Given the description of an element on the screen output the (x, y) to click on. 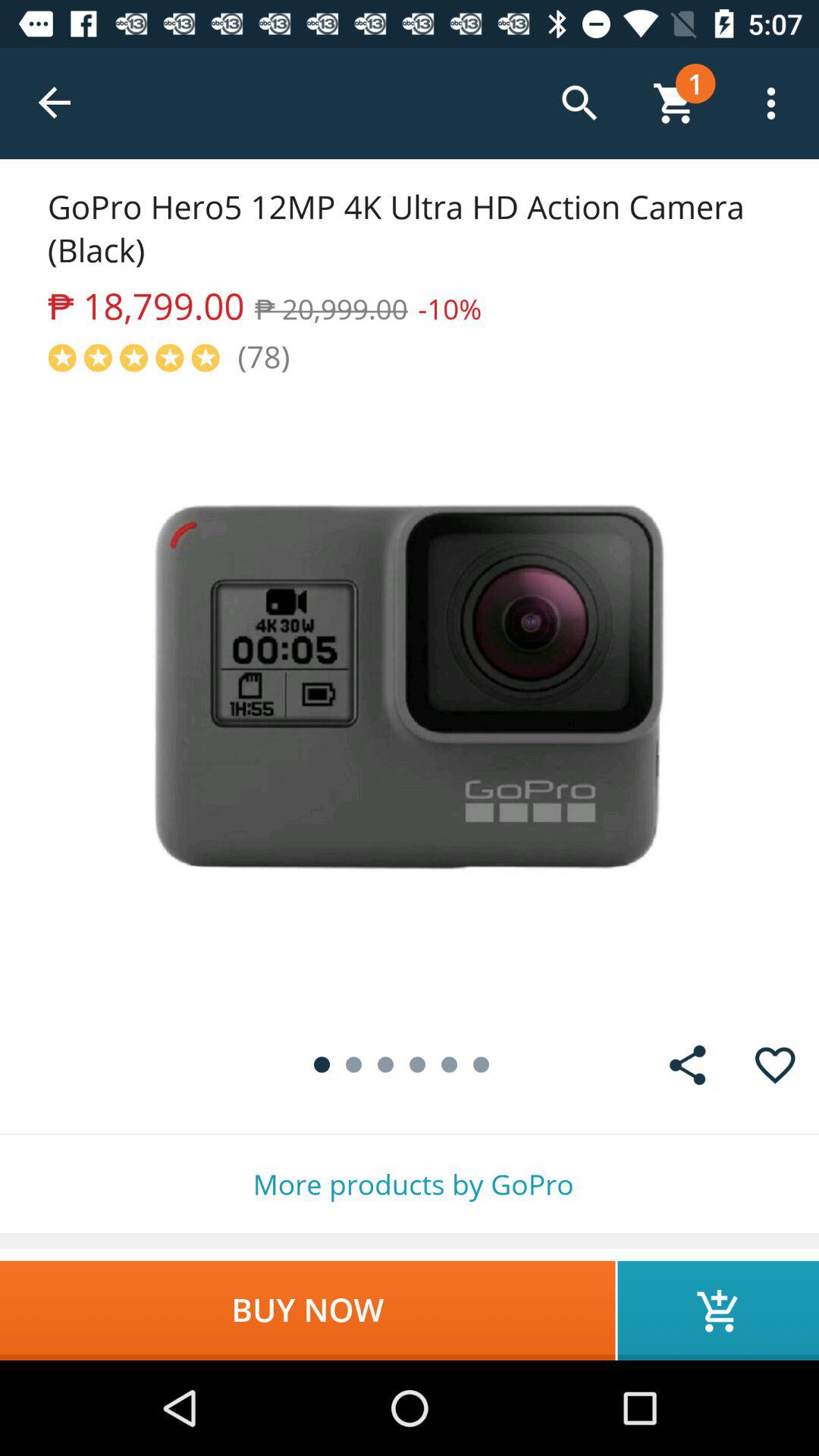
previous page (55, 103)
